Given the description of an element on the screen output the (x, y) to click on. 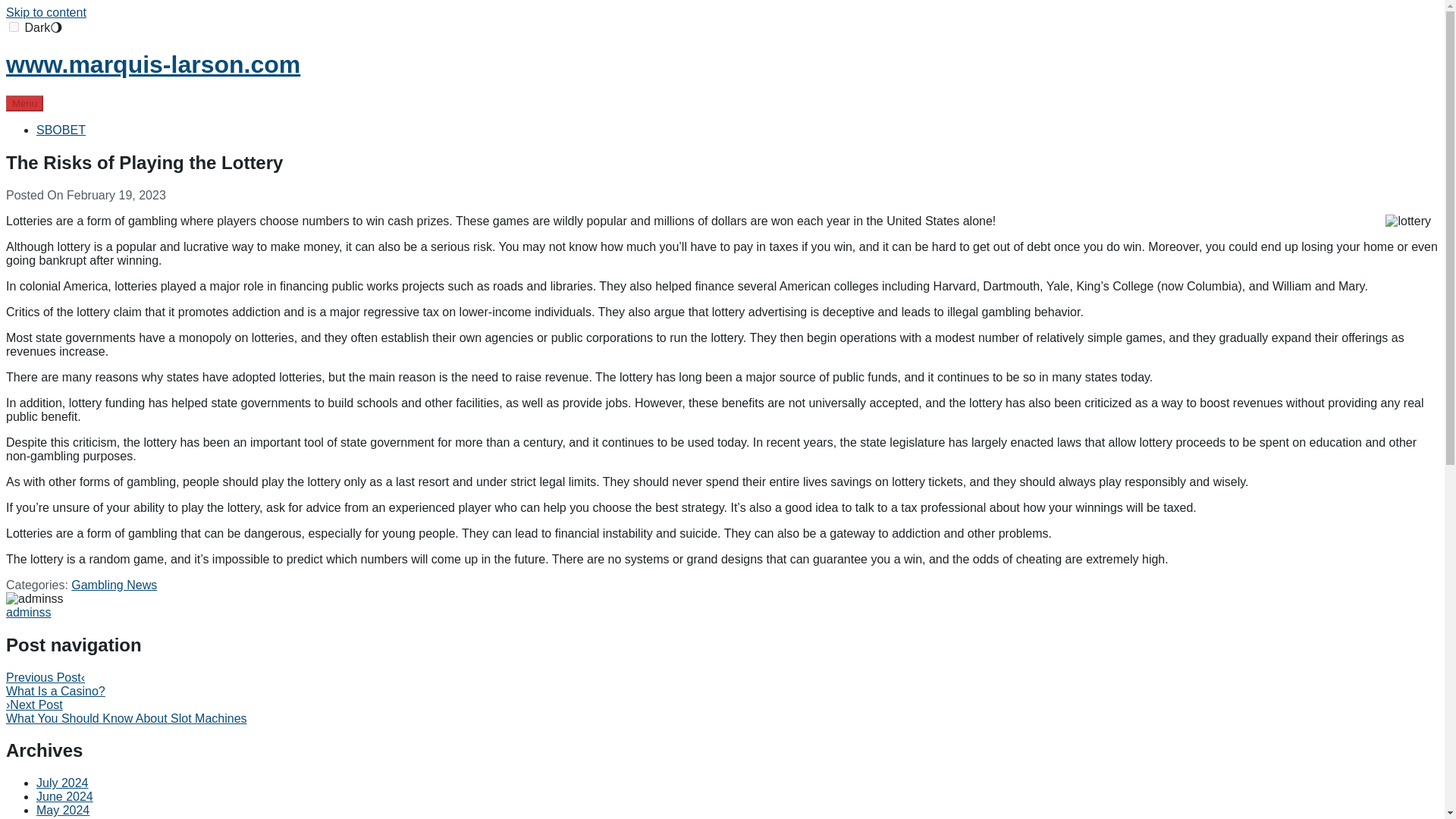
May 2024 (62, 809)
Menu (24, 103)
Skip to content (45, 11)
Gambling News (114, 584)
SBOBET (60, 129)
July 2024 (62, 782)
on (13, 26)
www.marquis-larson.com (152, 63)
adminss (27, 612)
April 2024 (63, 818)
June 2024 (64, 796)
